Given the description of an element on the screen output the (x, y) to click on. 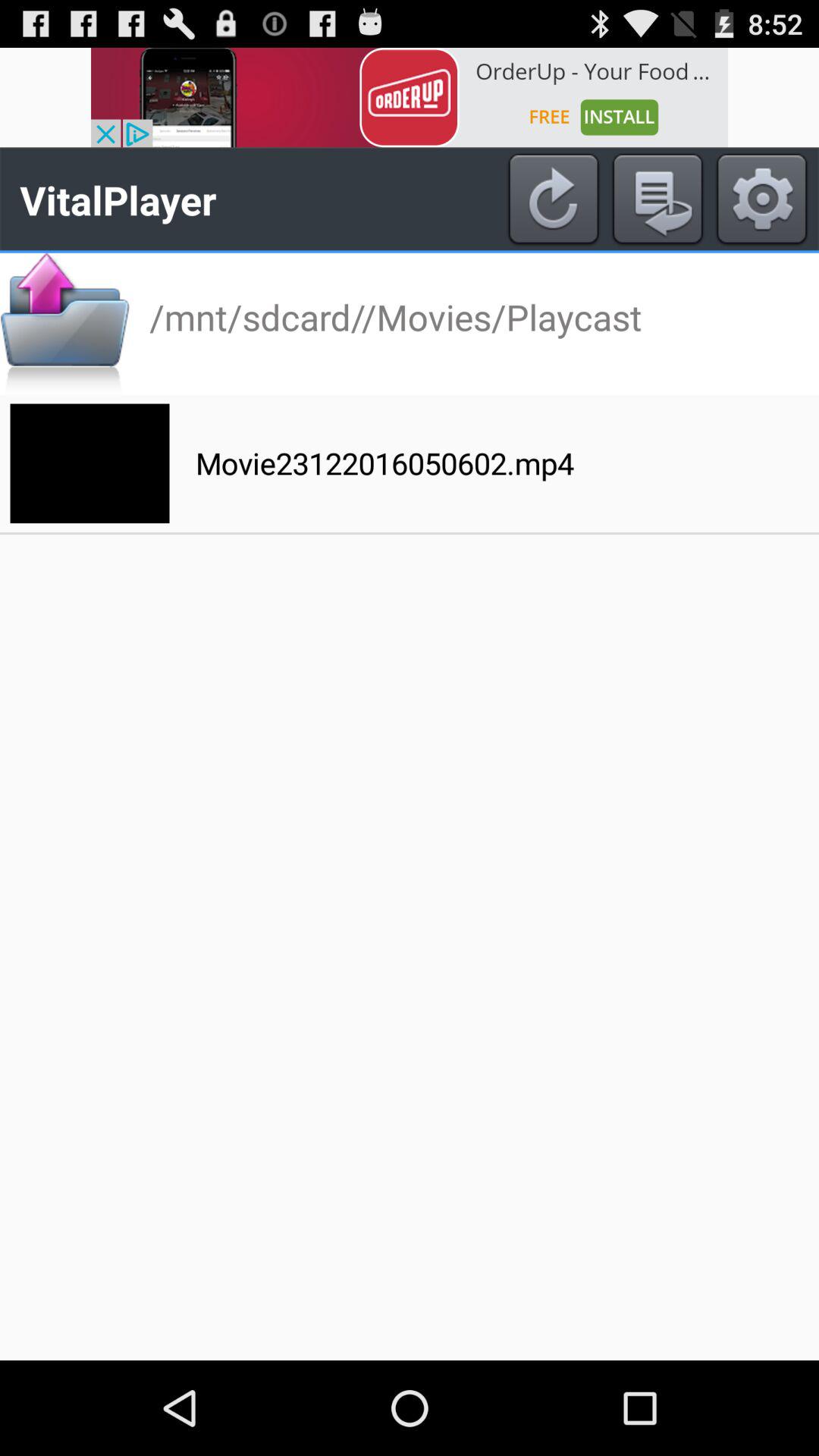
app advertisement option (409, 97)
